Given the description of an element on the screen output the (x, y) to click on. 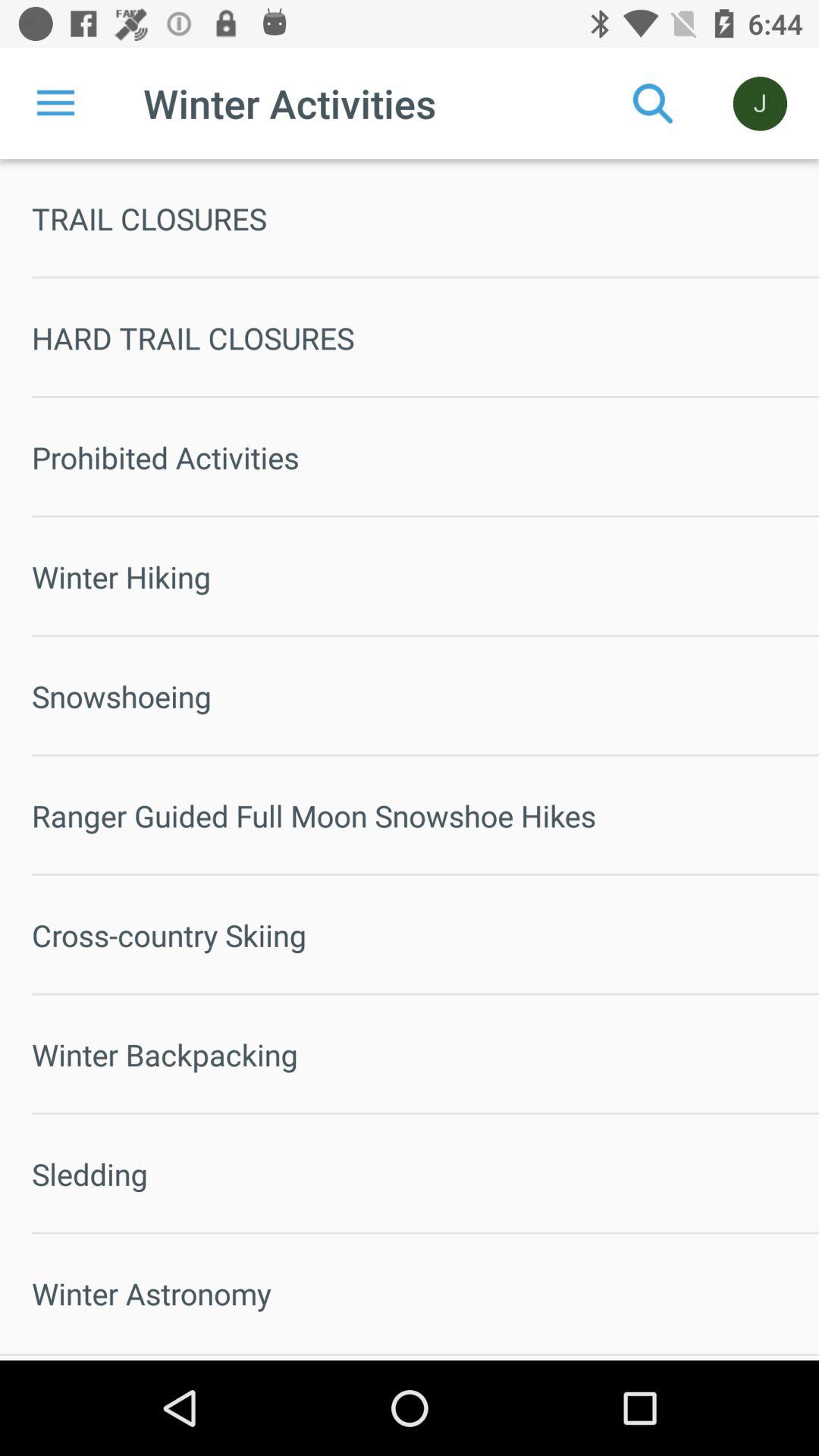
launch icon above trail closures icon (55, 103)
